Given the description of an element on the screen output the (x, y) to click on. 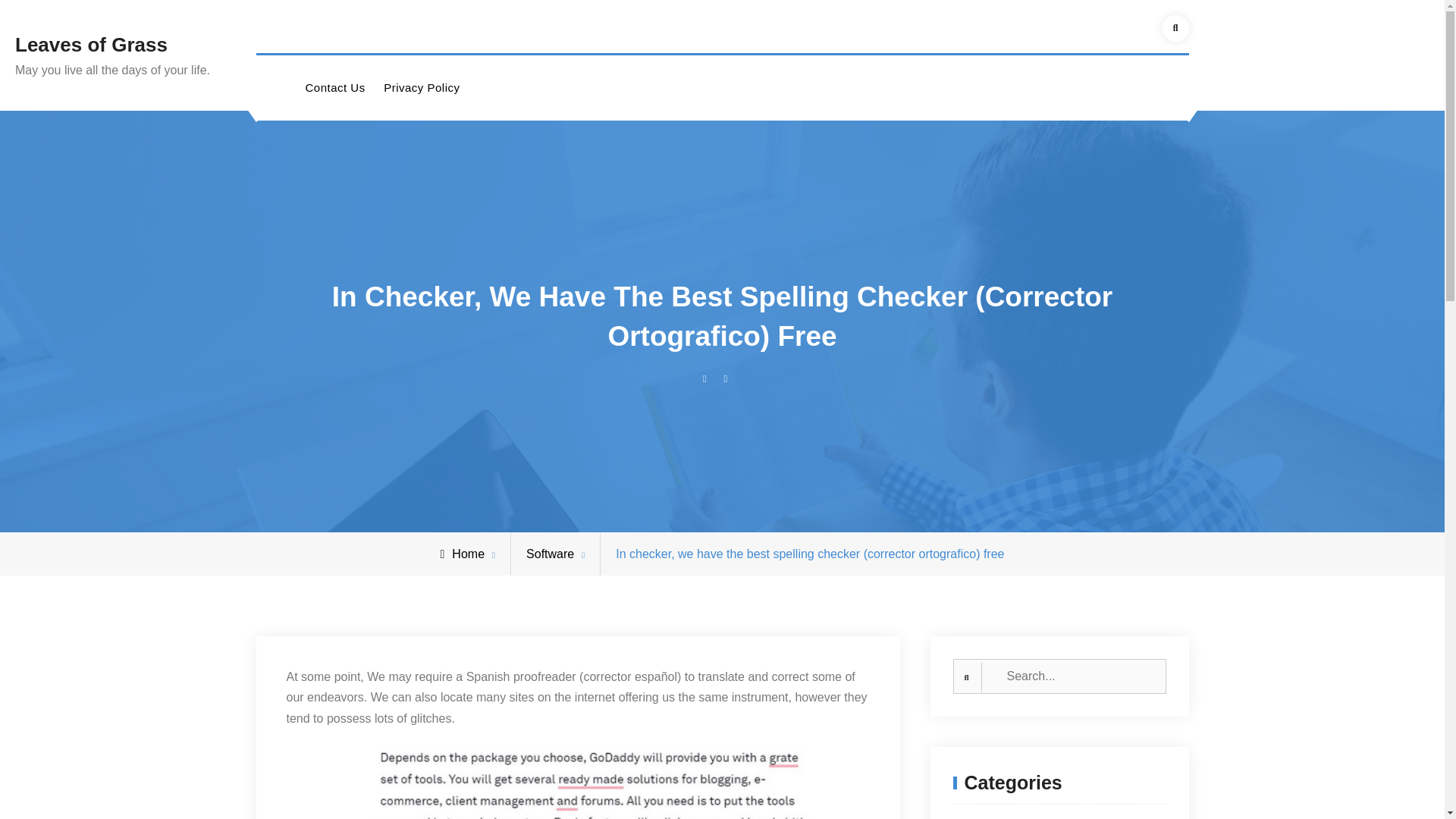
Home (461, 553)
Privacy Policy (421, 87)
Leaves of Grass (90, 44)
Software (549, 553)
Contact Us (334, 87)
Search (1174, 28)
